Given the description of an element on the screen output the (x, y) to click on. 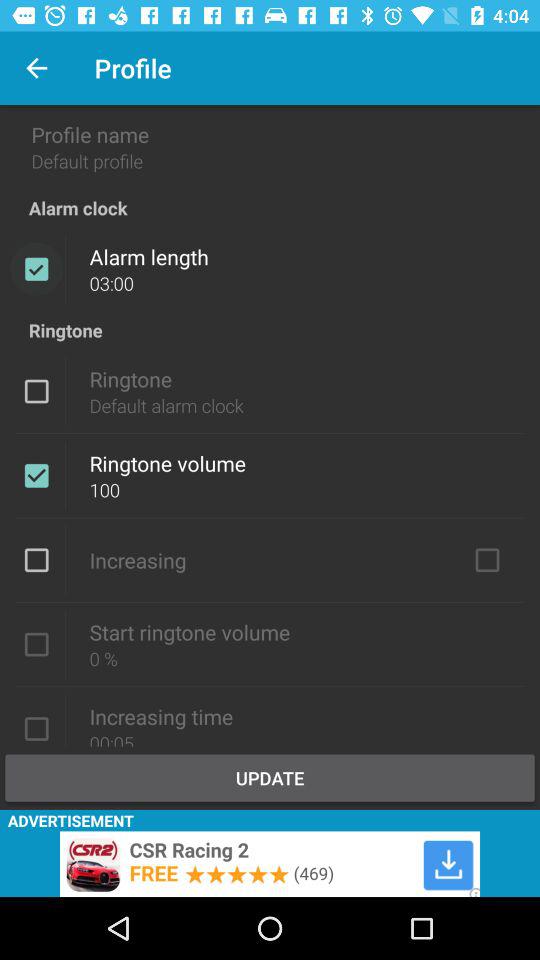
check increasing time (36, 727)
